Given the description of an element on the screen output the (x, y) to click on. 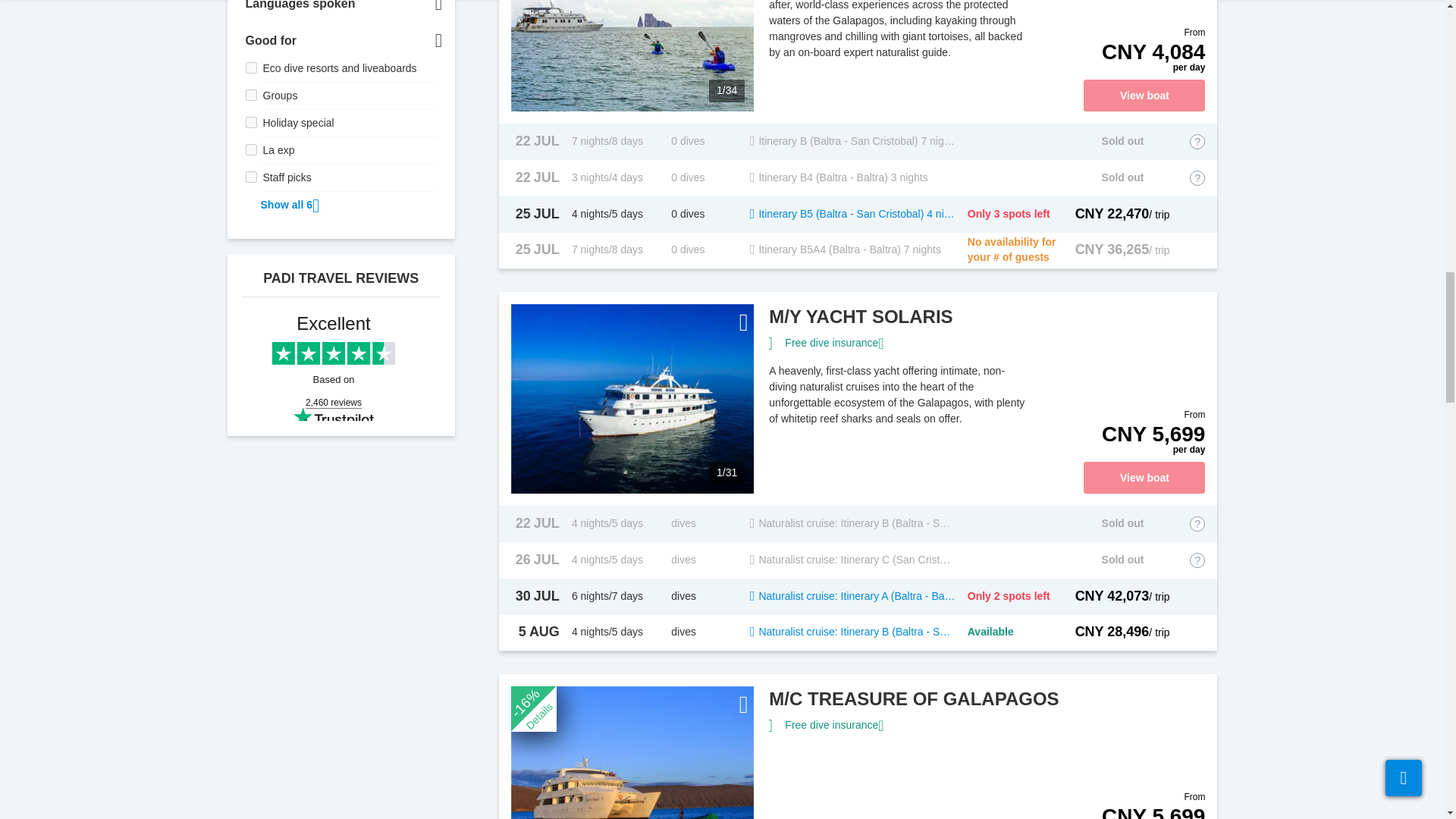
Customer reviews powered by Trustpilot (317, 367)
